Given the description of an element on the screen output the (x, y) to click on. 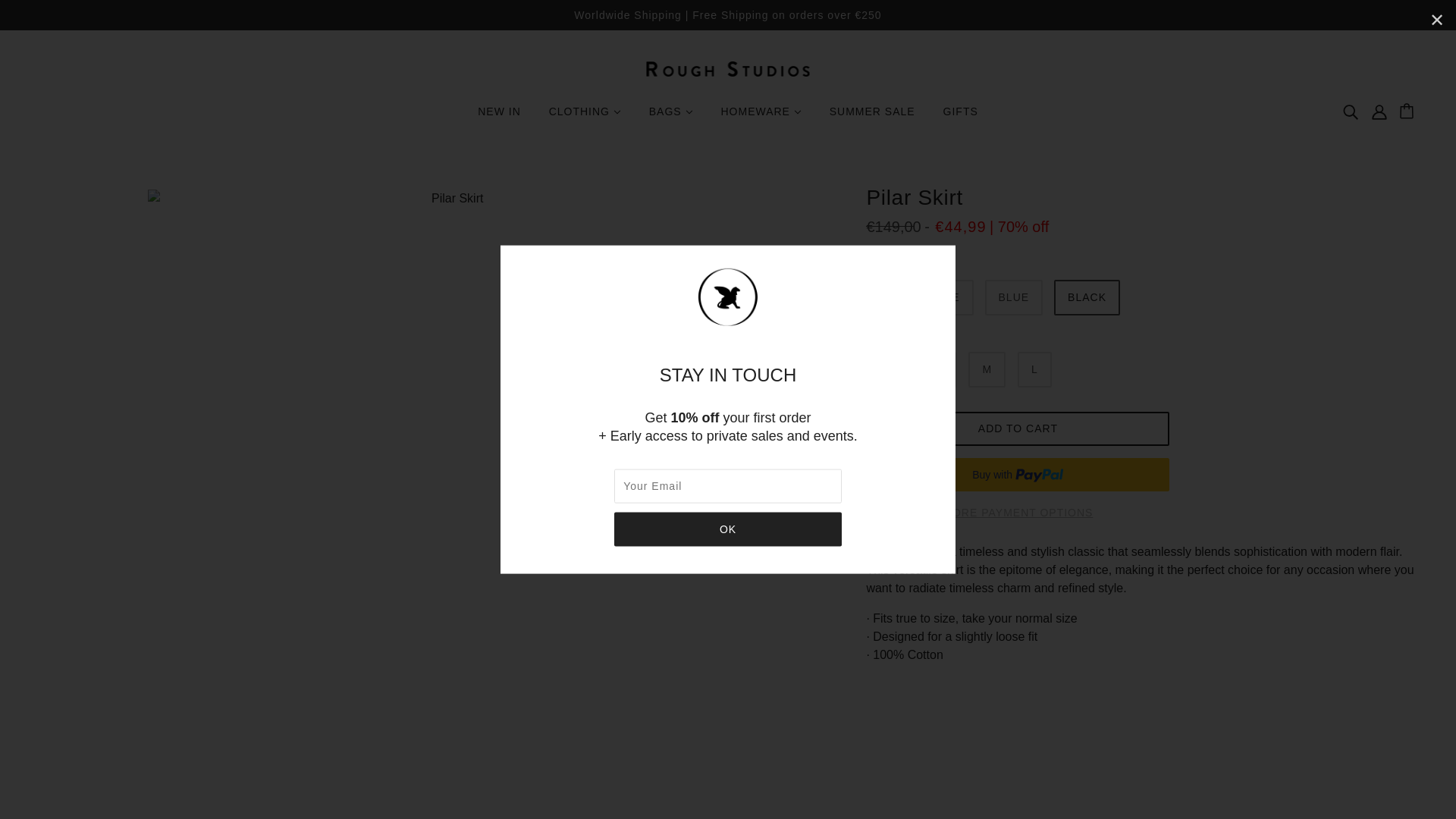
Pilar Skirt (1086, 297)
Ok (727, 528)
Pilar Skirt (1014, 297)
Rough Studios (727, 67)
Pilar Skirt (918, 297)
